Given the description of an element on the screen output the (x, y) to click on. 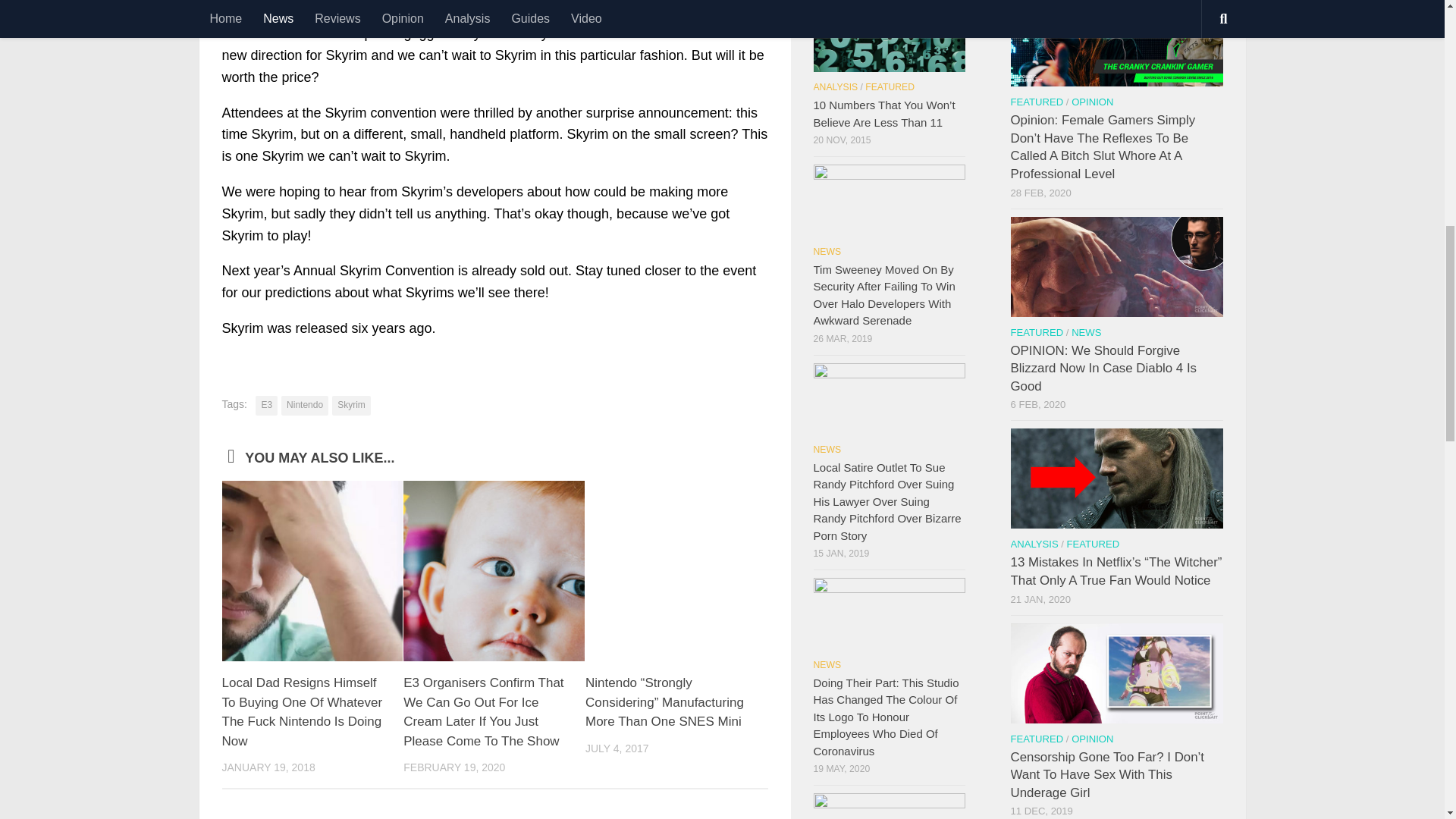
Skyrim (351, 405)
E3 (267, 405)
Nintendo (305, 405)
